Given the description of an element on the screen output the (x, y) to click on. 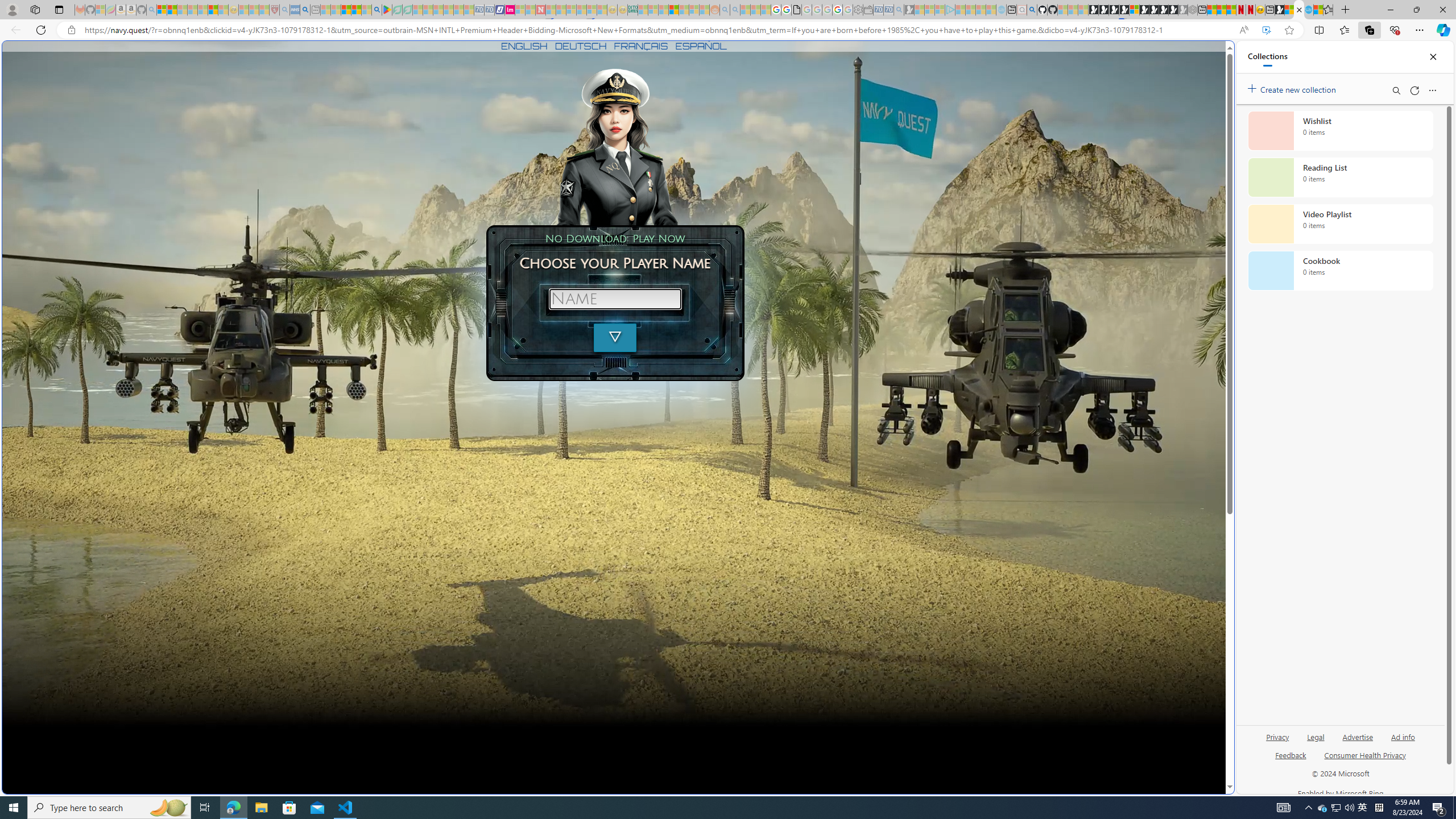
Frequently visited (965, 151)
Pets - MSN (356, 9)
Services - Maintenance | Sky Blue Bikes - Sky Blue Bikes (1307, 9)
Cookbook collection, 0 items (1339, 270)
